Given the description of an element on the screen output the (x, y) to click on. 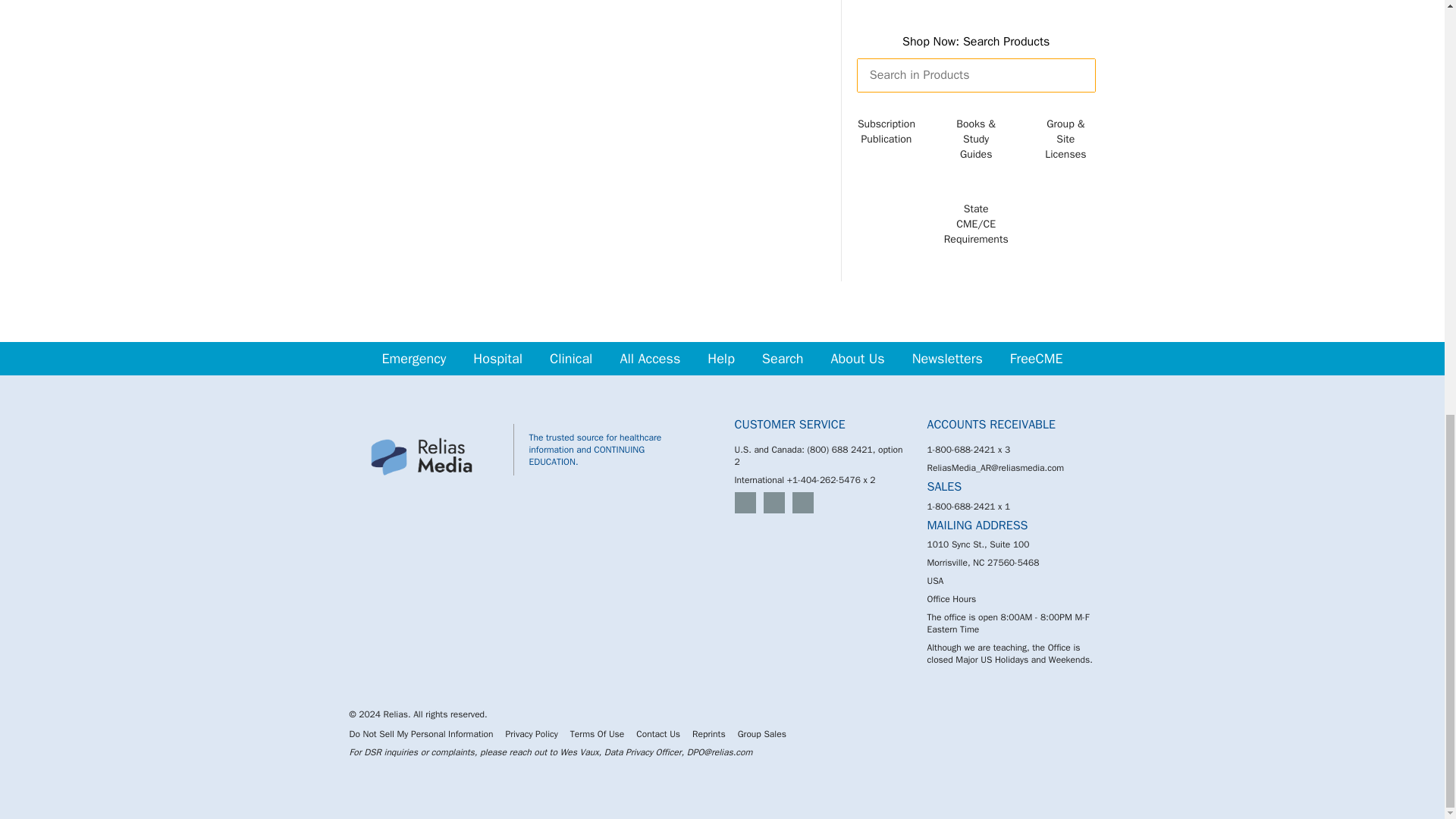
YouTube (802, 502)
Facebook (744, 502)
LinkedIn (773, 502)
